Given the description of an element on the screen output the (x, y) to click on. 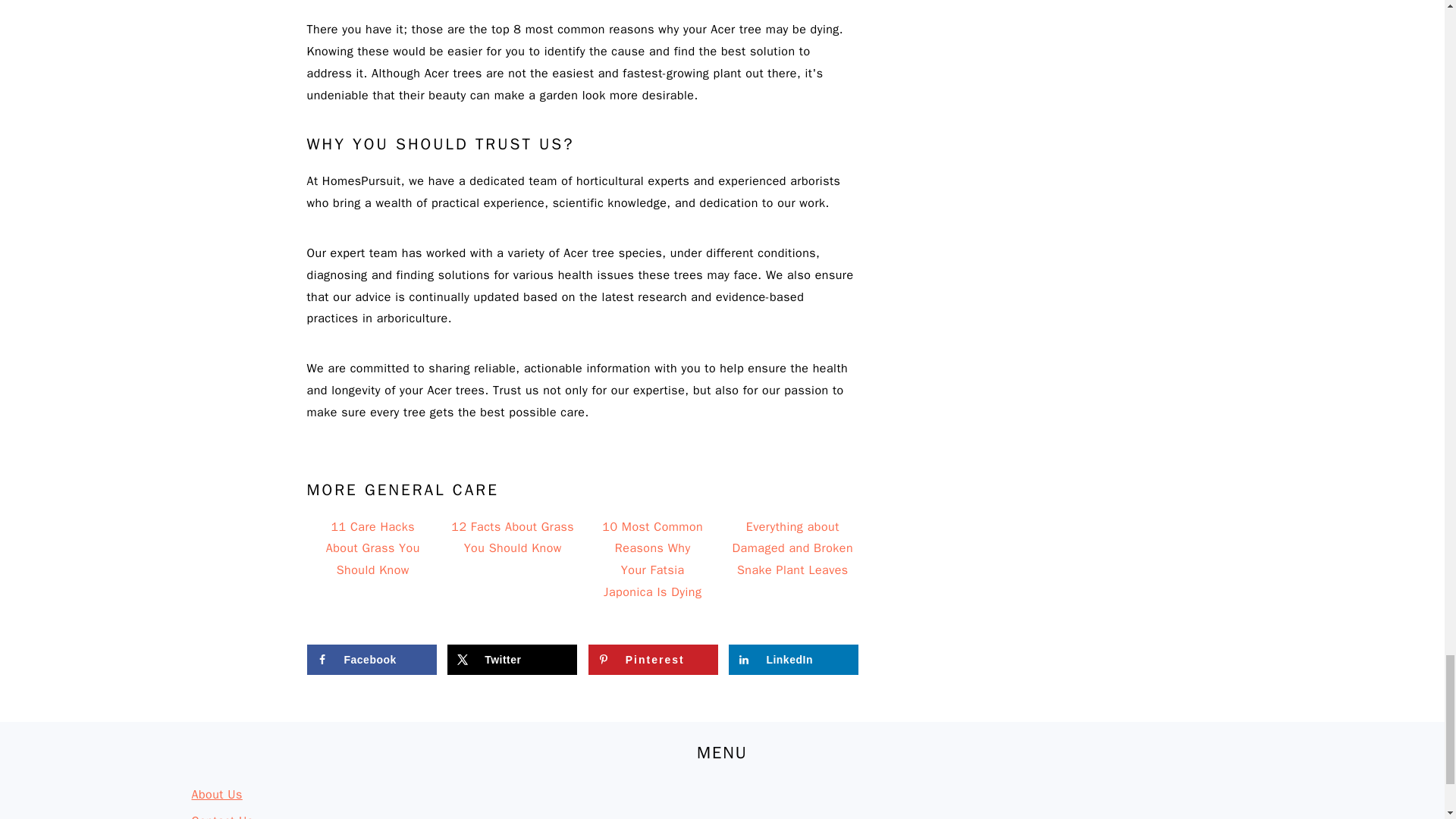
Save to Pinterest (652, 659)
Share on X (511, 659)
Share on Facebook (370, 659)
Share on LinkedIn (794, 659)
